Given the description of an element on the screen output the (x, y) to click on. 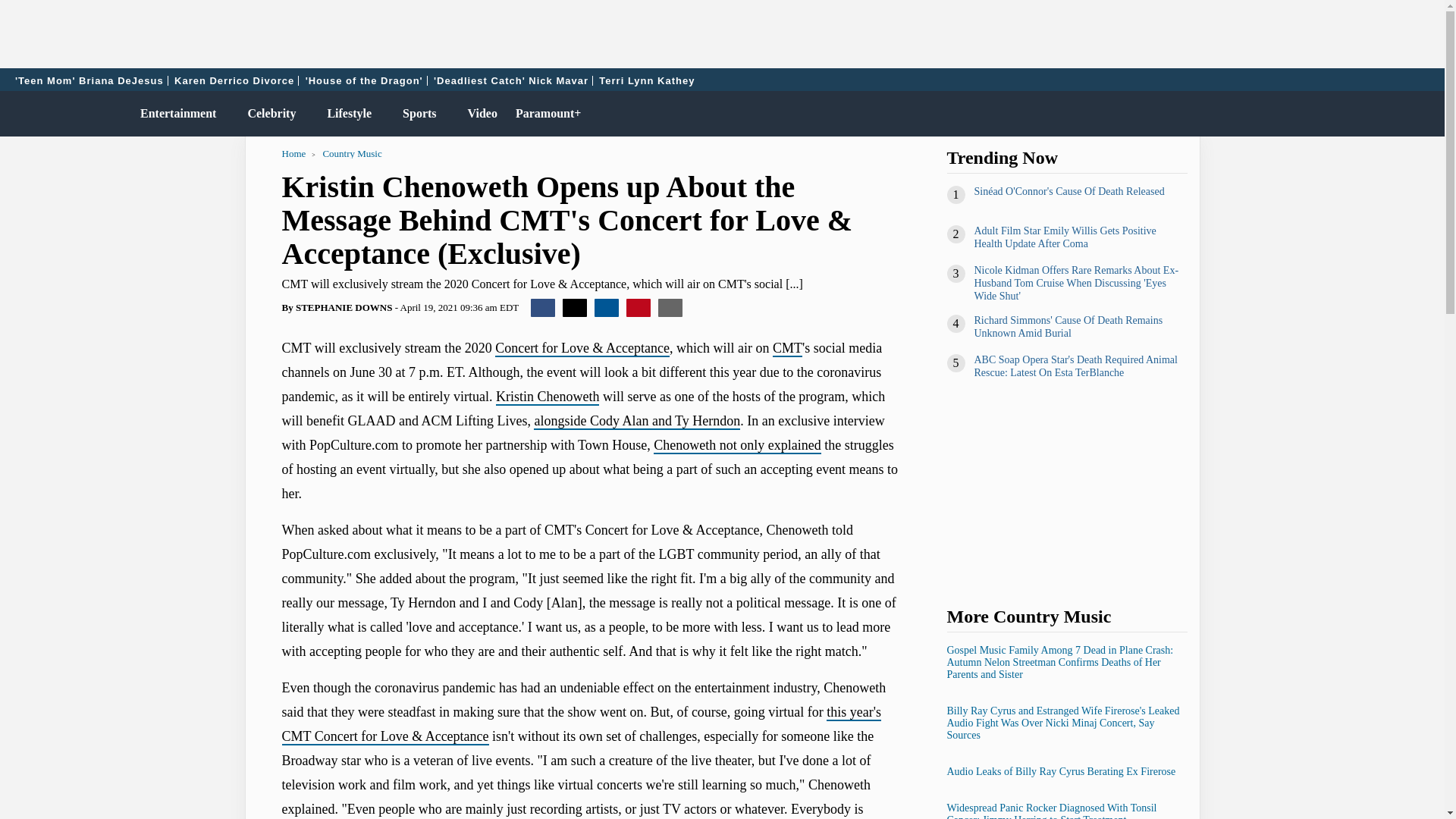
Entertainment (175, 113)
'Deadliest Catch' Nick Mavar (510, 80)
Sports (416, 113)
Video (479, 113)
Lifestyle (345, 113)
Search (1426, 114)
Celebrity (267, 113)
'House of the Dragon' (363, 80)
Karen Derrico Divorce (234, 80)
Dark Mode (1394, 113)
'Teen Mom' Briana DeJesus (89, 80)
Terri Lynn Kathey (646, 80)
